Given the description of an element on the screen output the (x, y) to click on. 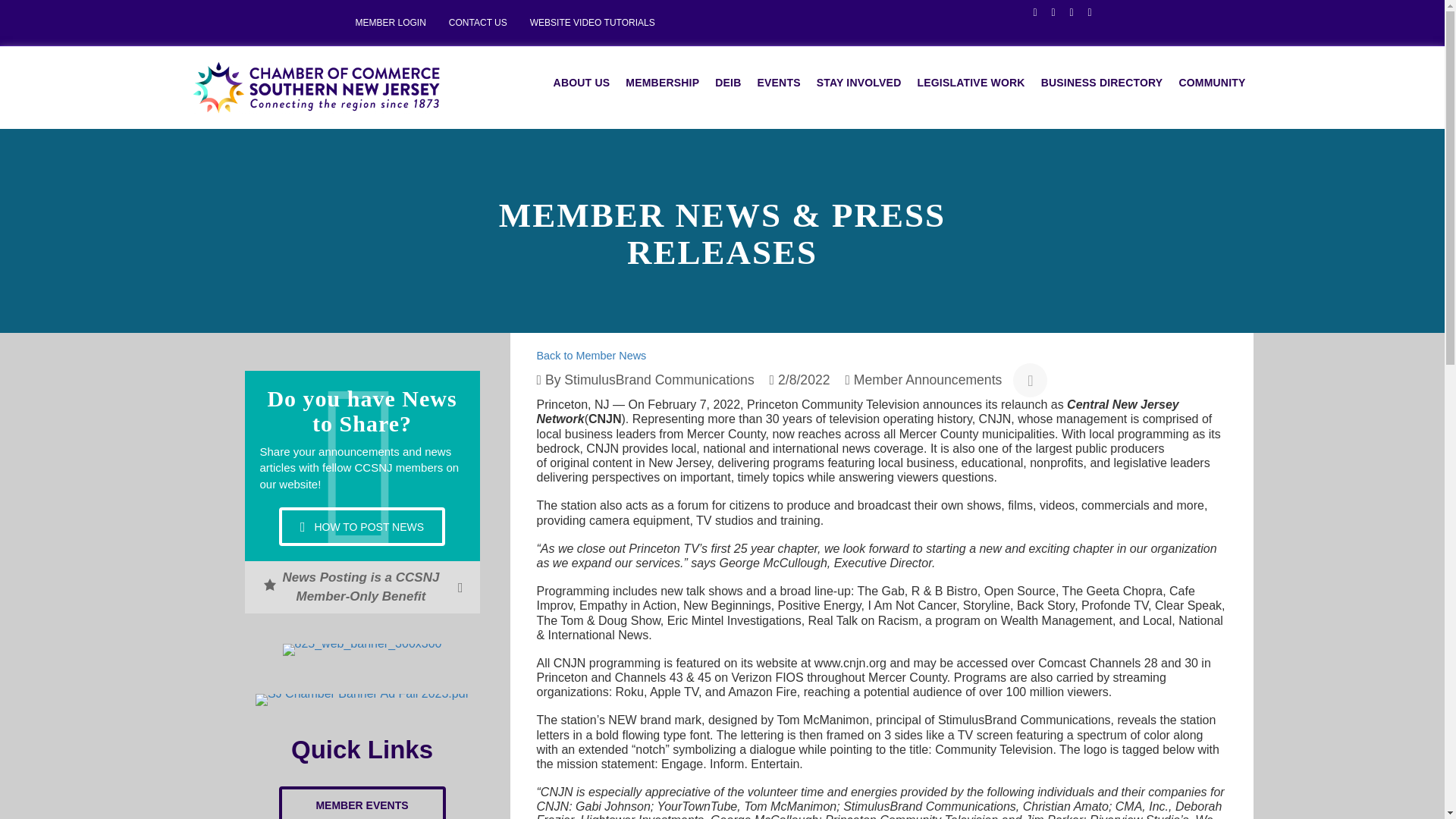
ABOUT US (581, 82)
CONTACT US (478, 22)
MEMBER LOGIN (390, 22)
SJ Chamber Banner Ad Fall 2023.pdf (362, 699)
Twitter (1045, 11)
Linkedin (1064, 11)
WEBSITE VIDEO TUTORIALS (592, 22)
CCSNJ-Logo-Color (315, 87)
Instagram (1083, 11)
EVENTS (778, 82)
Facebook (1027, 11)
DEIB (727, 82)
STAY INVOLVED (858, 82)
MEMBERSHIP (661, 82)
